Given the description of an element on the screen output the (x, y) to click on. 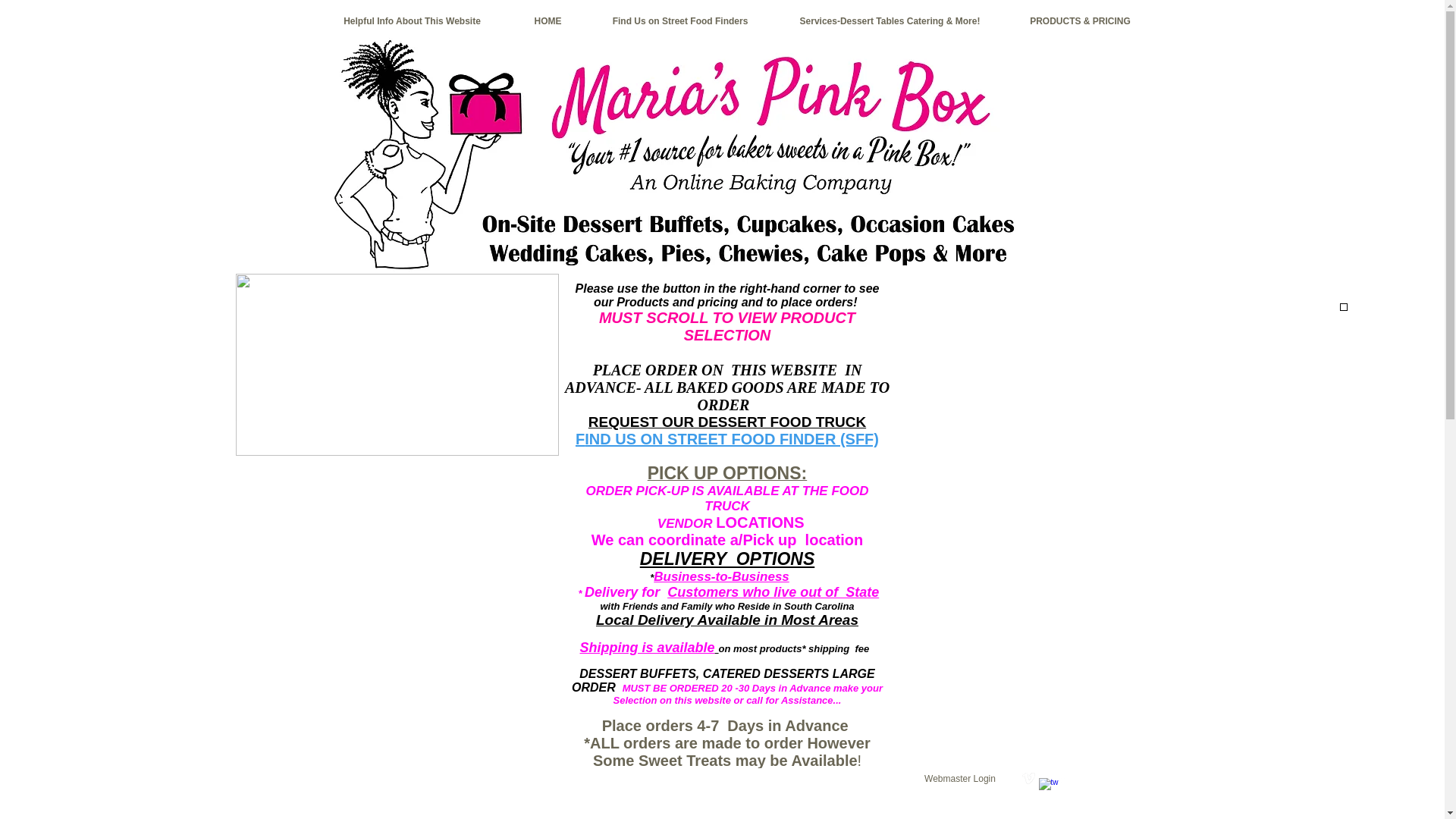
Helpful Info About This Website (412, 21)
Find Us on Street Food Finders (680, 21)
HOME (547, 21)
Webmaster Login (959, 778)
